Given the description of an element on the screen output the (x, y) to click on. 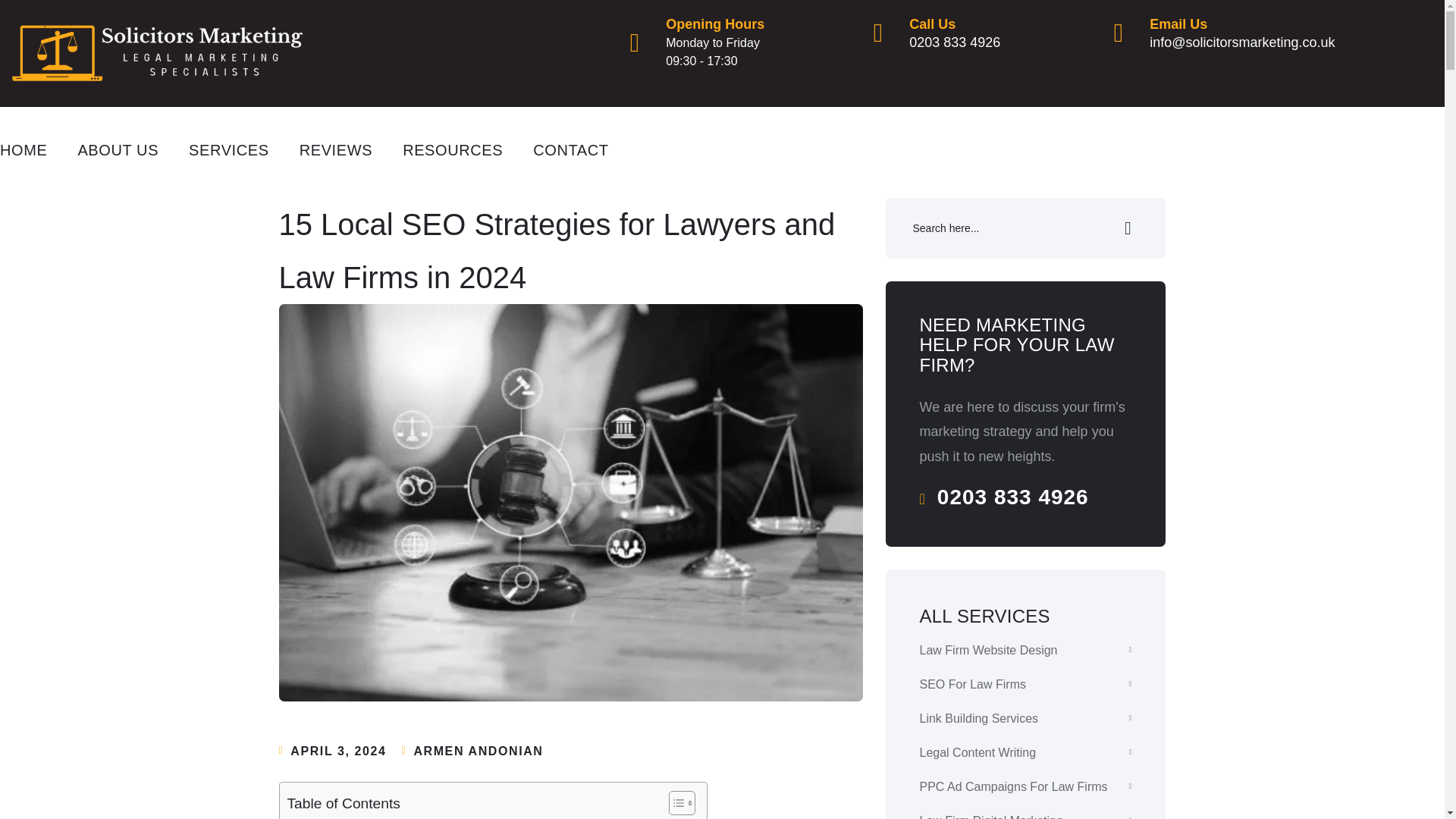
CONTACT (570, 149)
ARMEN ANDONIAN (478, 750)
APRIL 3, 2024 (337, 750)
GET IN TOUCH (1303, 129)
REVIEWS (335, 149)
SERVICES (229, 149)
ABOUT US (117, 149)
RESOURCES (452, 149)
HOME (993, 33)
